Given the description of an element on the screen output the (x, y) to click on. 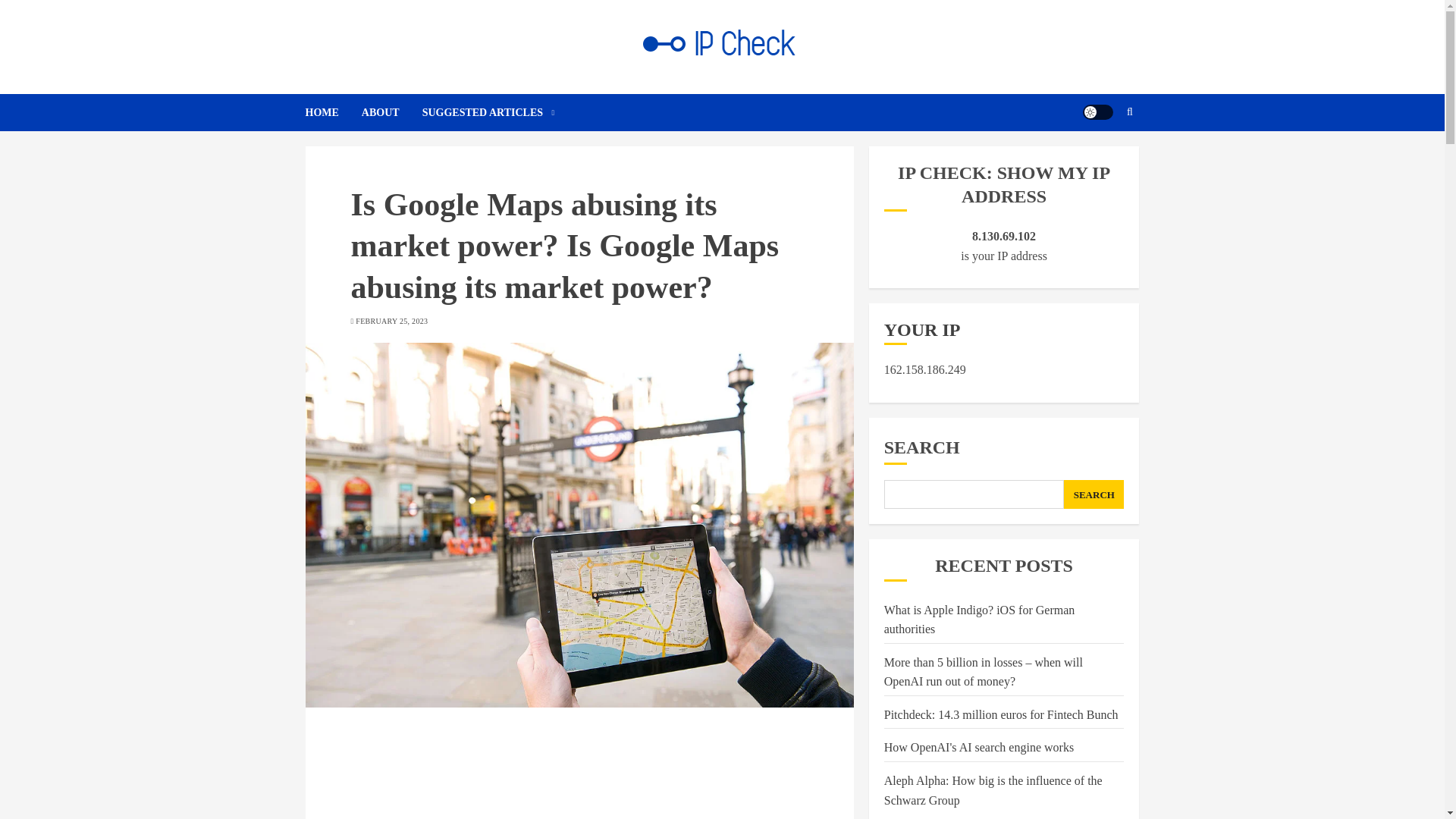
ABOUT (391, 112)
SUGGESTED ARTICLES (488, 112)
HOME (332, 112)
Advertisement (578, 773)
